Given the description of an element on the screen output the (x, y) to click on. 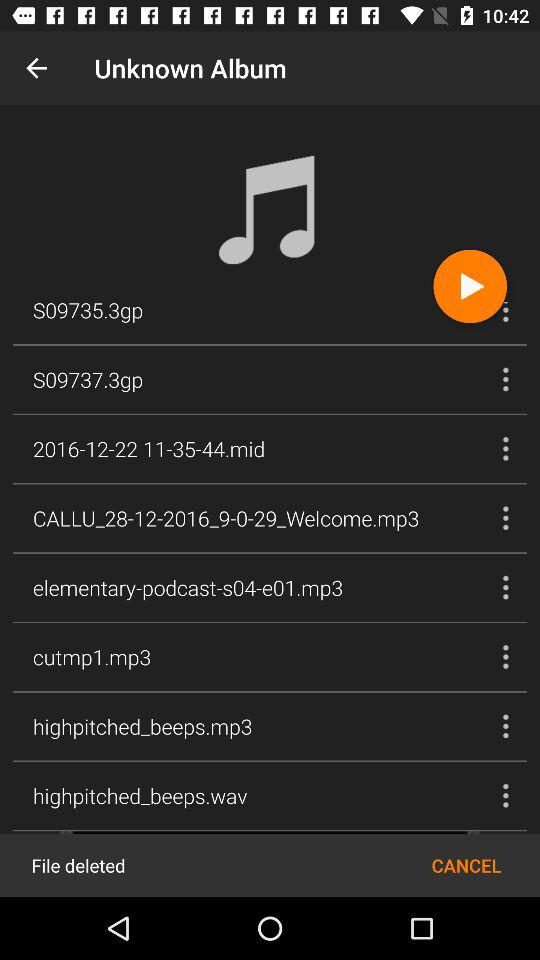
scroll to the elementary podcast s04 item (188, 587)
